Given the description of an element on the screen output the (x, y) to click on. 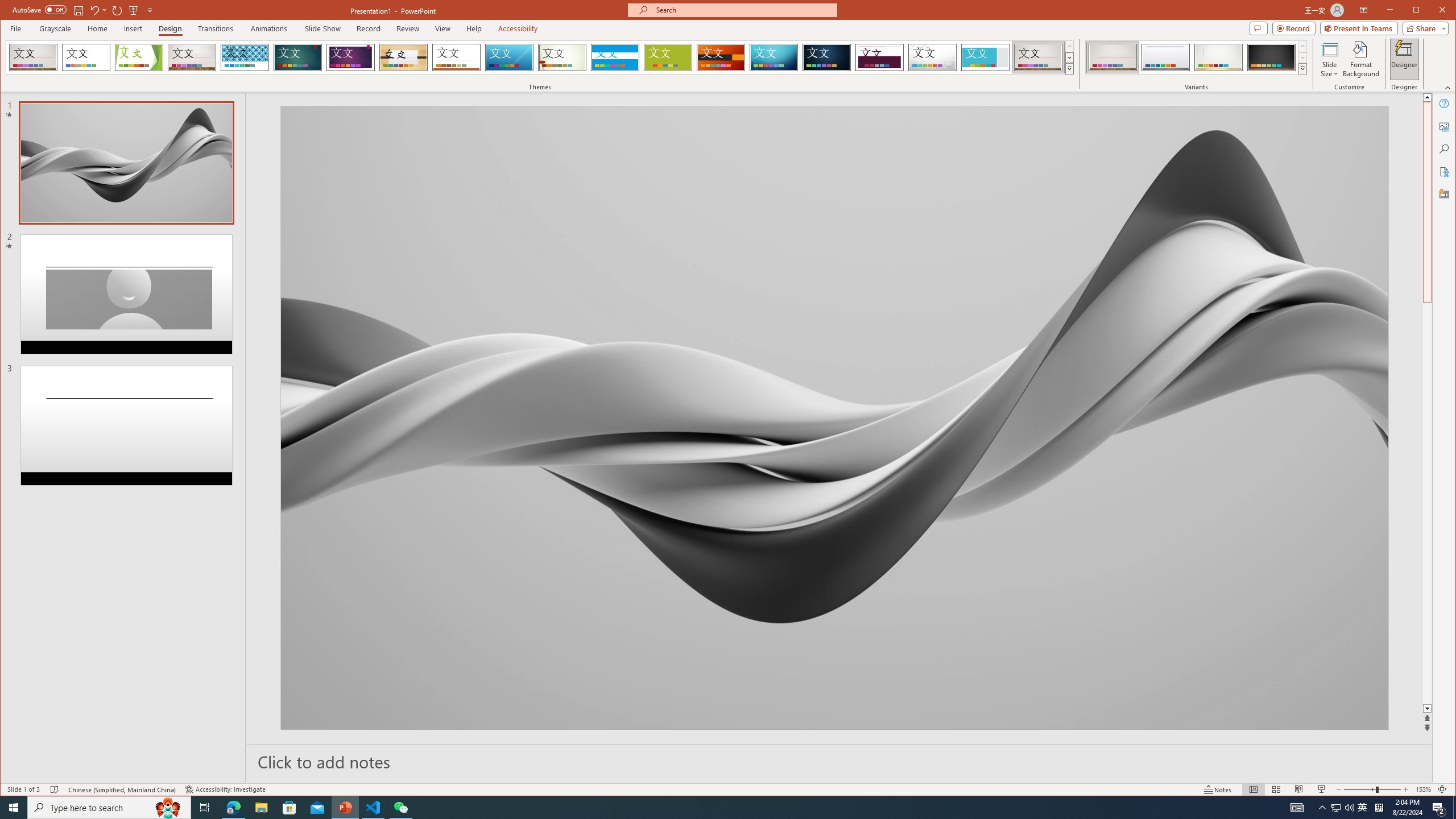
Gallery Variant 1 (1112, 57)
Basis (668, 57)
Damask (826, 57)
